Given the description of an element on the screen output the (x, y) to click on. 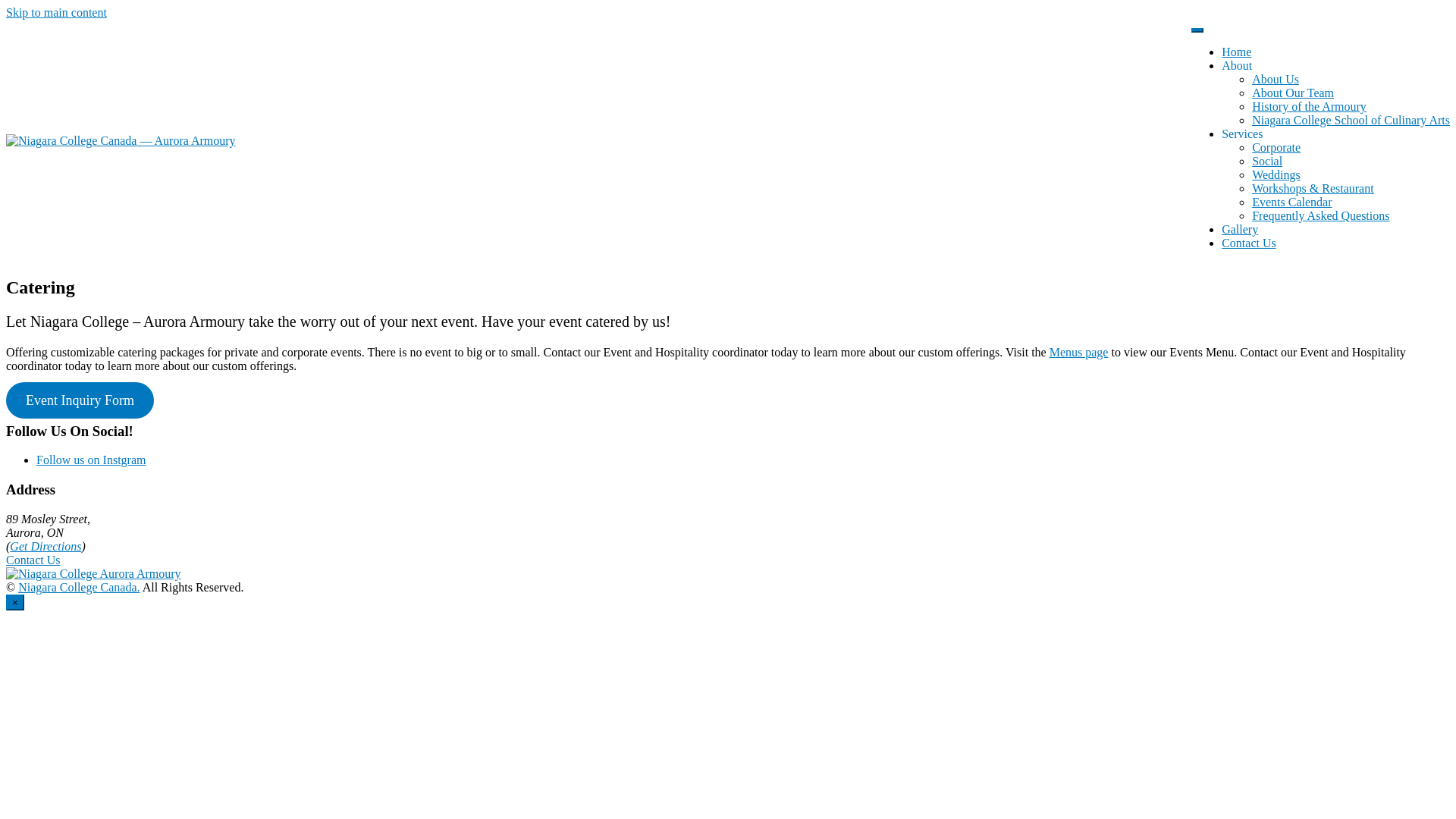
Corporate Element type: text (1276, 147)
Social Element type: text (1267, 160)
Follow us on Instgram Element type: text (90, 459)
Niagara College School of Culinary Arts Element type: text (1350, 119)
Event Inquiry Form Element type: text (79, 400)
Workshops & Restaurant Element type: text (1312, 188)
History of the Armoury Element type: text (1309, 106)
About Element type: text (1236, 65)
About Our Team Element type: text (1292, 92)
Get Directions Element type: text (45, 545)
Events Calendar Element type: text (1291, 201)
Gallery Element type: text (1239, 228)
Home Element type: text (1236, 51)
Contact Us Element type: text (1248, 242)
Frequently Asked Questions Element type: text (1320, 215)
Niagara College Canada. Element type: text (78, 586)
Menus page Element type: text (1078, 351)
Weddings Element type: text (1276, 174)
Skip to main content Element type: text (56, 12)
Services Element type: text (1241, 133)
About Us Element type: text (1275, 78)
Contact Us Element type: text (33, 559)
